Given the description of an element on the screen output the (x, y) to click on. 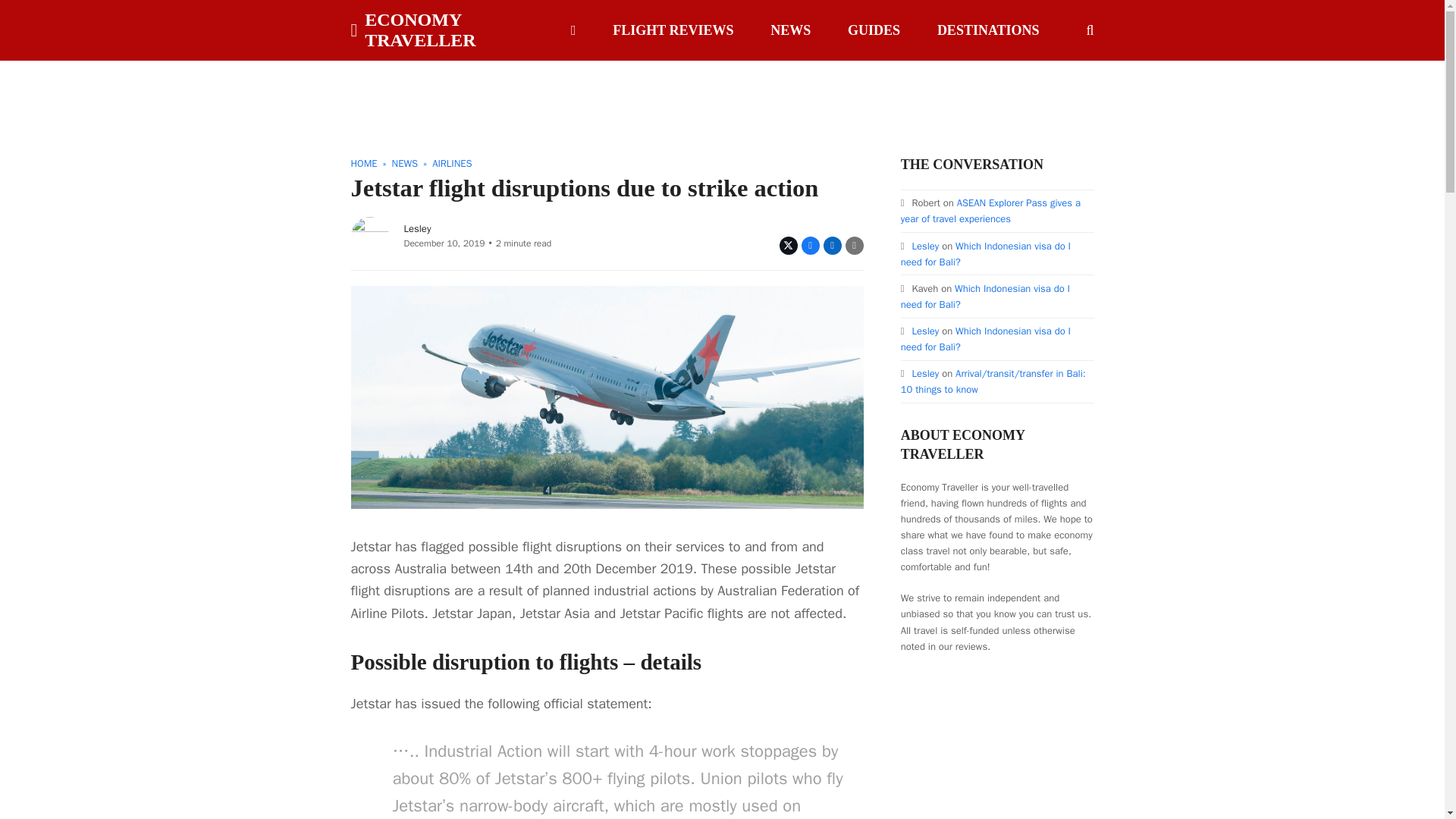
Advertisement (1014, 748)
NEWS (790, 29)
Share on Facebook (810, 245)
DESTINATIONS (988, 29)
Lesley (416, 227)
NEWS (405, 163)
Share on LinkedIn (832, 245)
Post on X (787, 245)
Go to Author Page (369, 234)
ECONOMY TRAVELLER (444, 29)
Share via Email (854, 245)
HOME (363, 163)
Advertisement (721, 94)
AIRLINES (451, 163)
FLIGHT REVIEWS (672, 29)
